Given the description of an element on the screen output the (x, y) to click on. 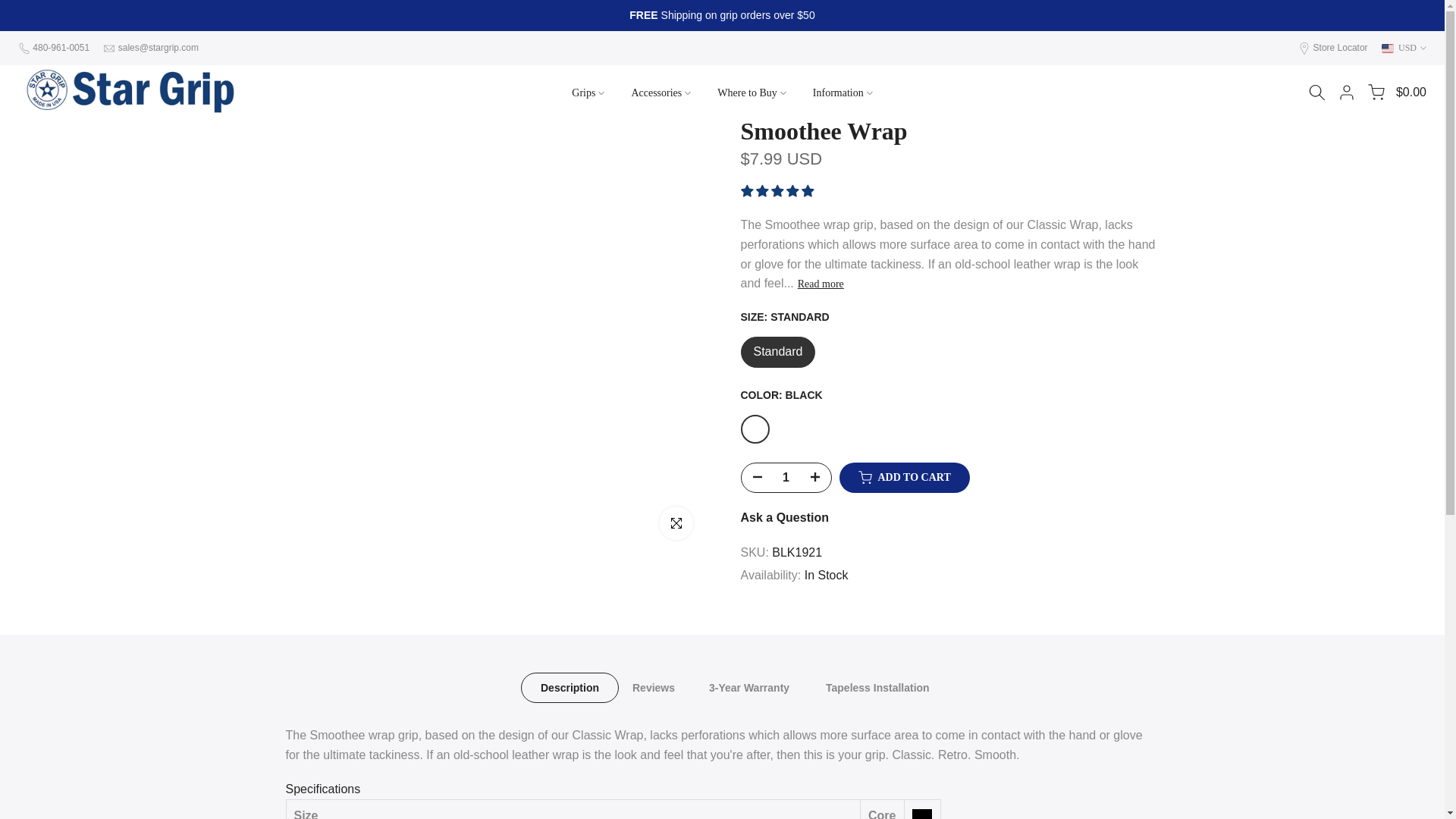
Store Locator (1340, 47)
Skip to content (10, 7)
Black (753, 428)
USD (1403, 47)
1 (786, 477)
480-961-0051 (60, 47)
